Given the description of an element on the screen output the (x, y) to click on. 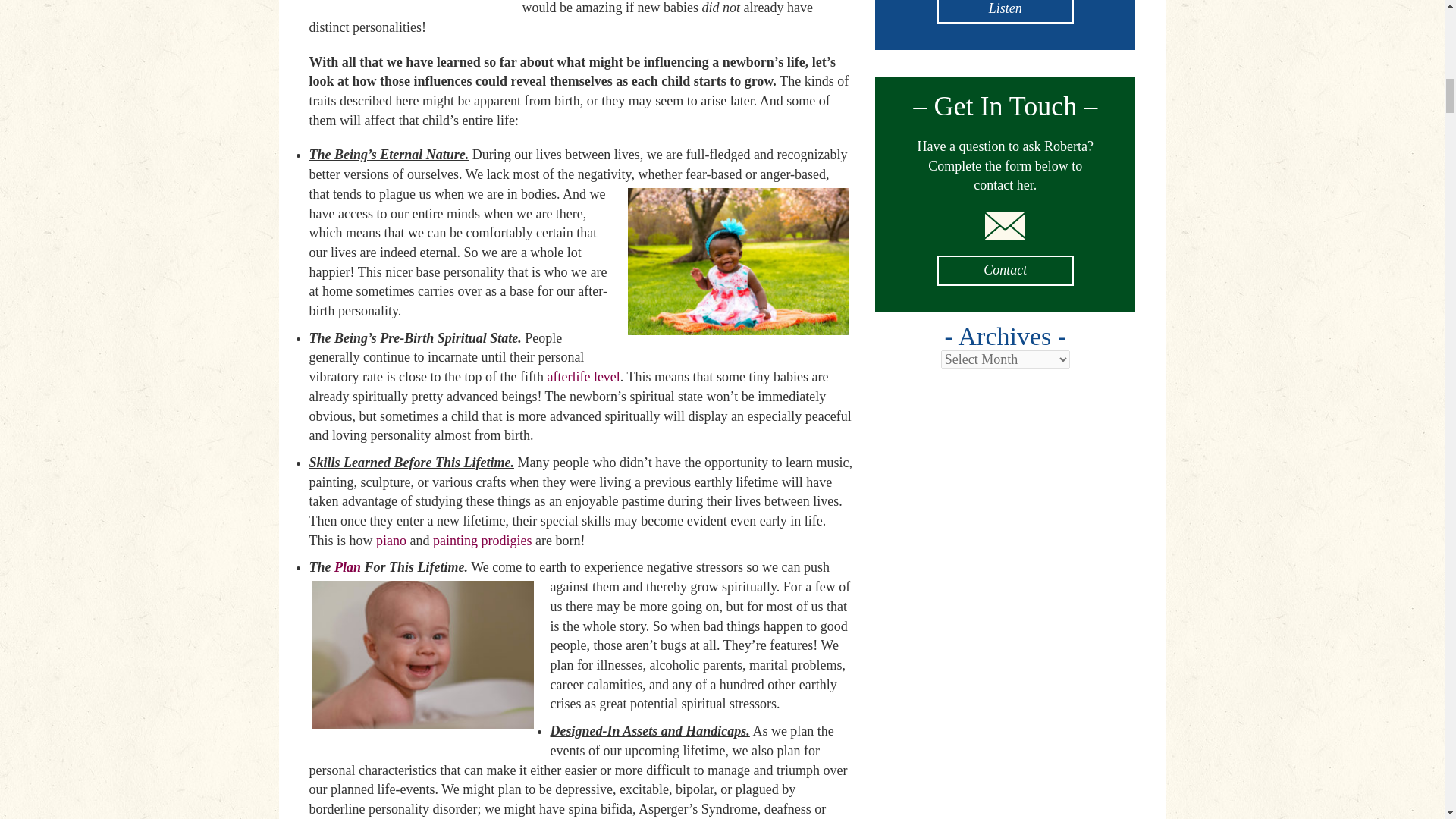
afterlife level (583, 376)
piano (390, 540)
Plan (347, 566)
prodigies (506, 540)
painting (454, 540)
